Given the description of an element on the screen output the (x, y) to click on. 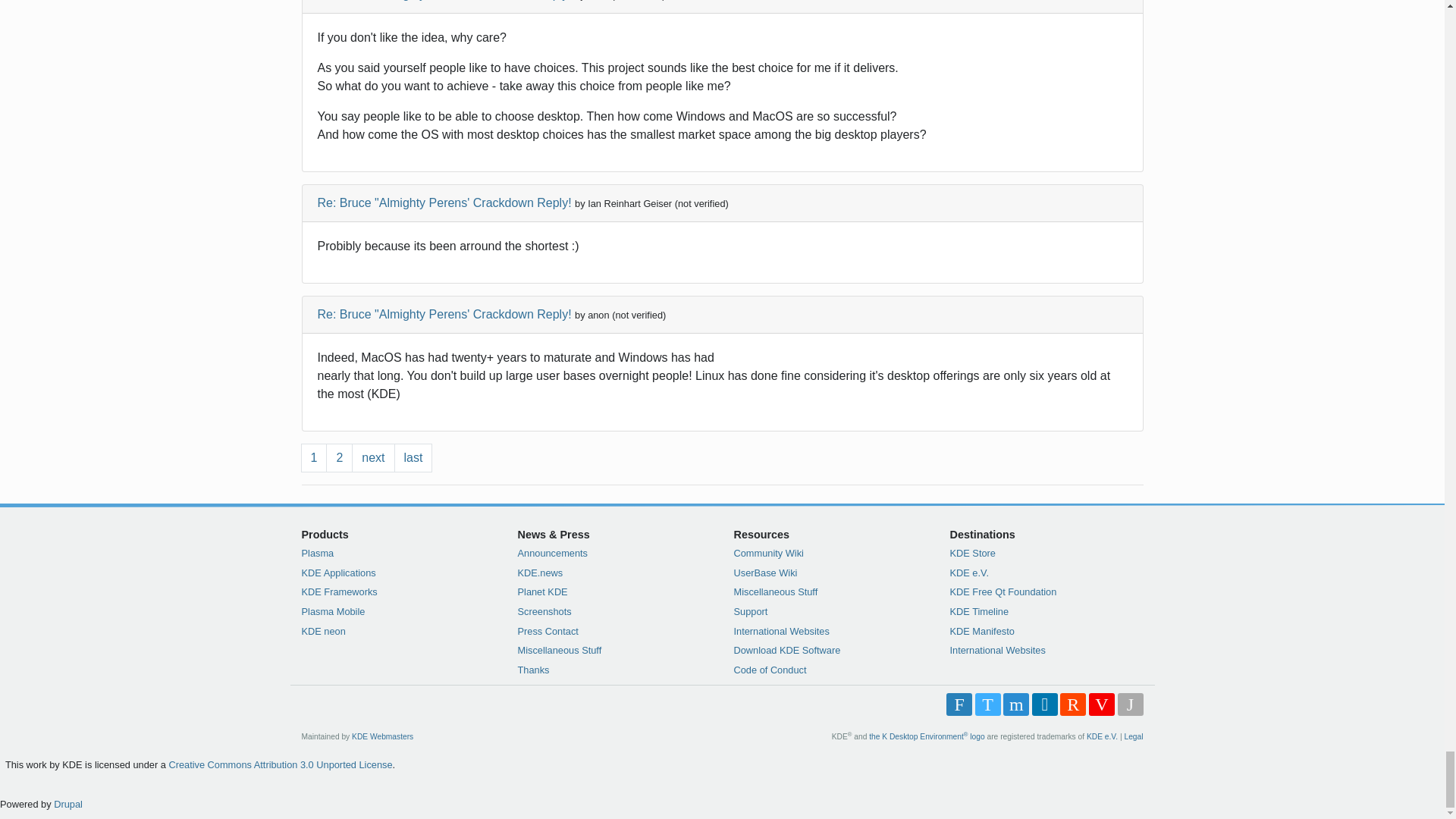
Go to page 2 (339, 457)
Homepage of the KDE non-profit Organization (1102, 736)
